Given the description of an element on the screen output the (x, y) to click on. 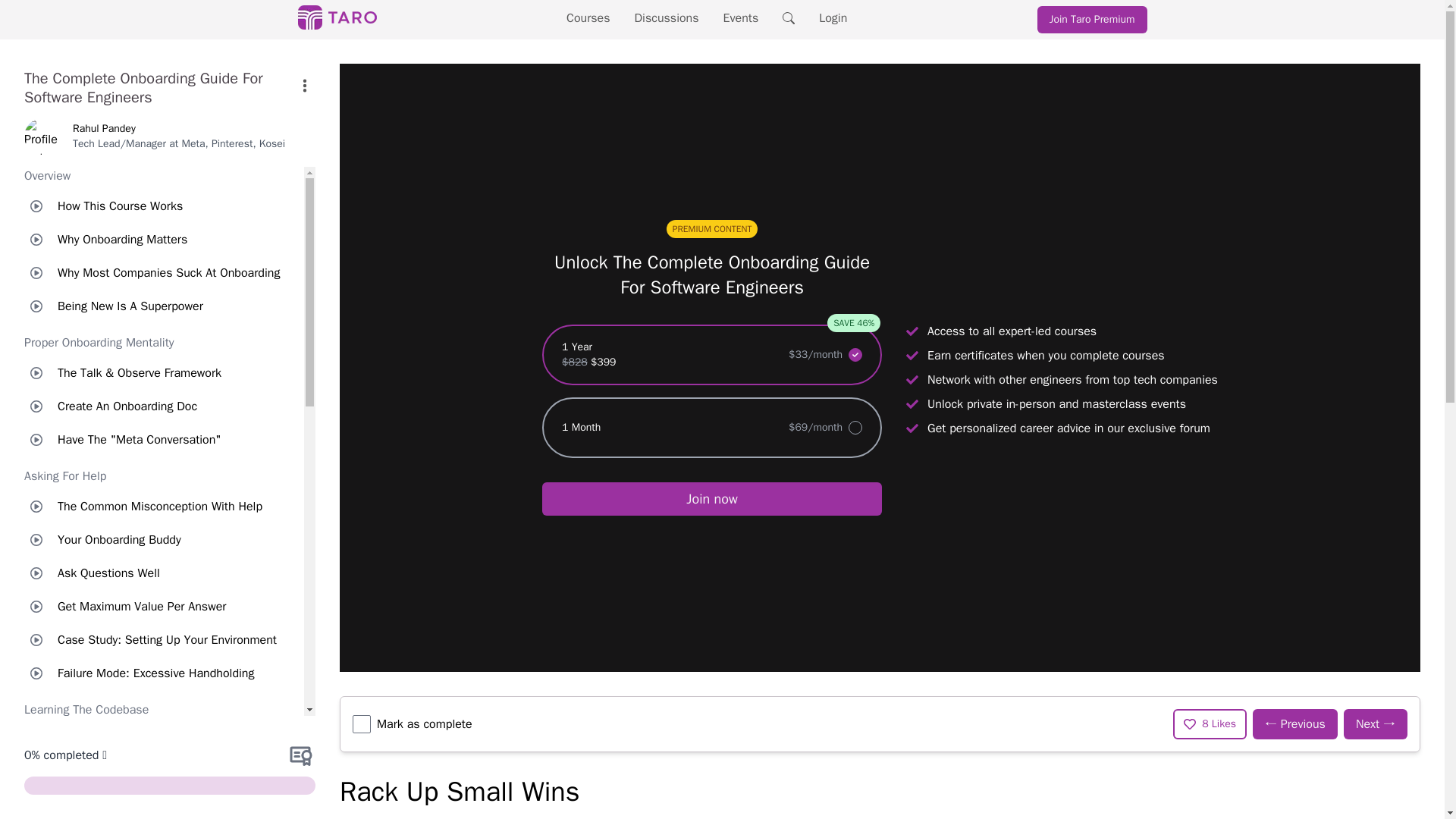
Join Taro Premium (1091, 19)
on (361, 723)
Courses (588, 17)
Events (740, 17)
Discussions (666, 17)
The Complete Onboarding Guide For Software Engineers (159, 87)
